Given the description of an element on the screen output the (x, y) to click on. 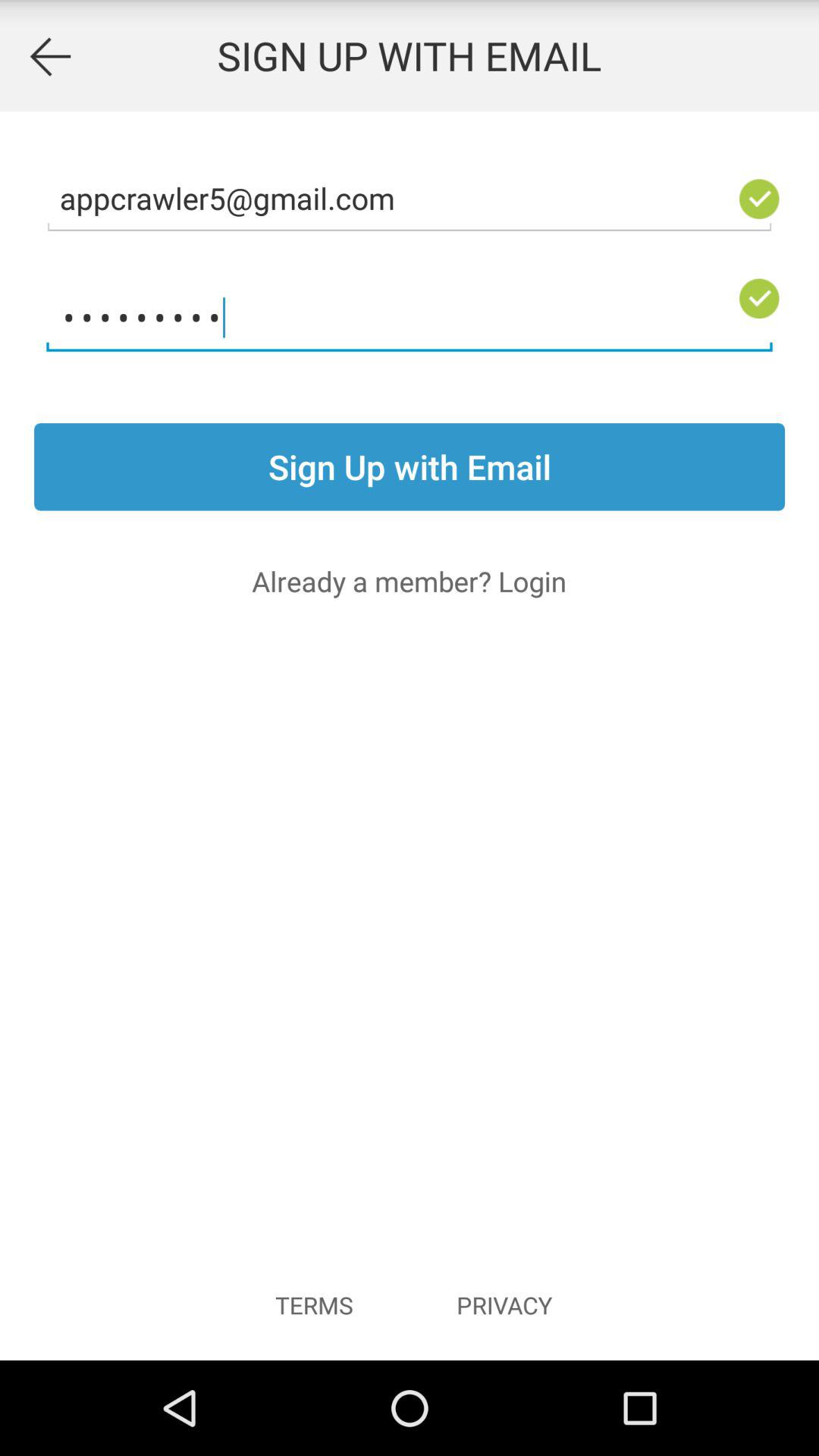
go back (49, 55)
